Given the description of an element on the screen output the (x, y) to click on. 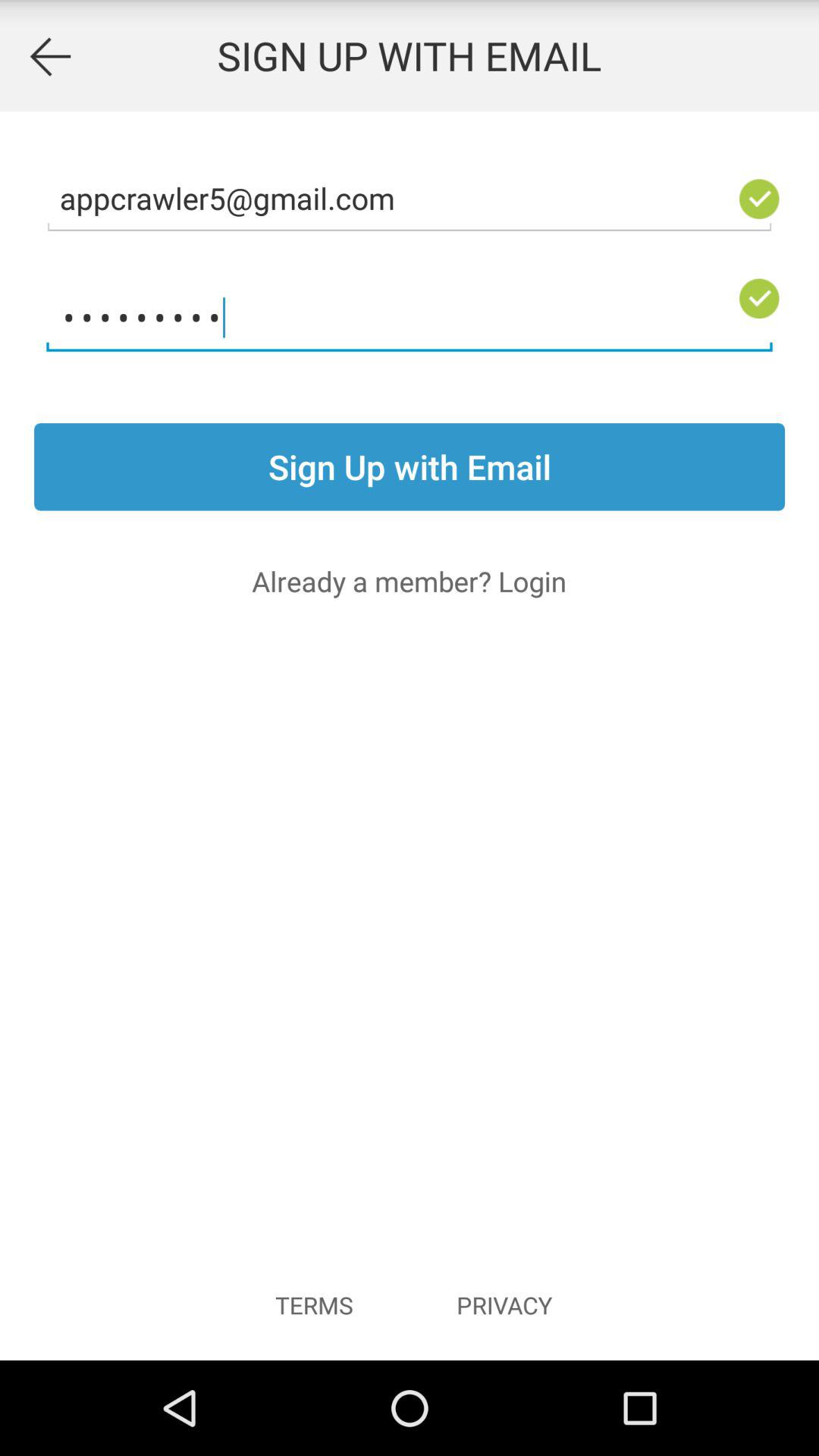
go back (49, 55)
